Given the description of an element on the screen output the (x, y) to click on. 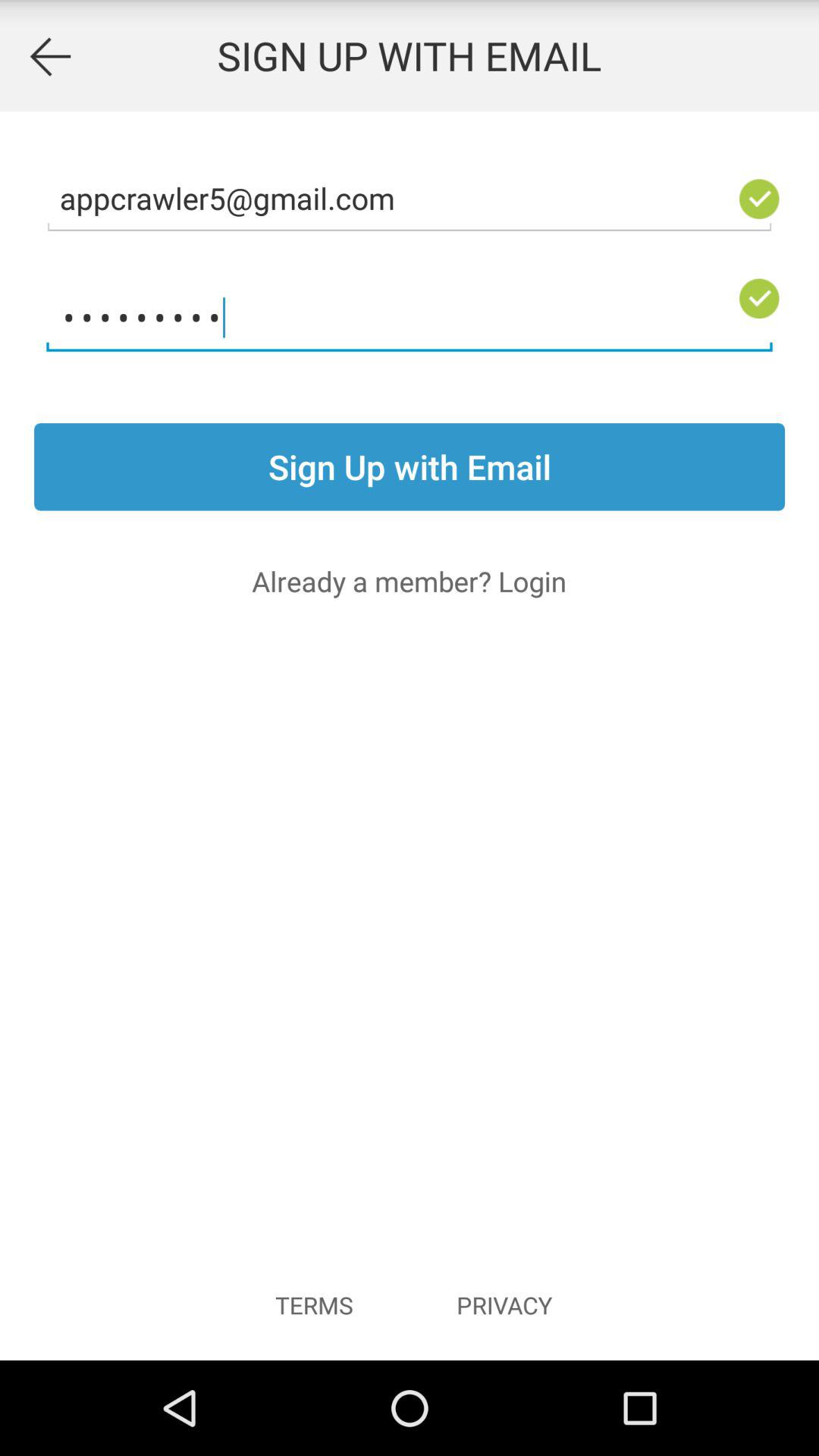
go back (49, 55)
